Given the description of an element on the screen output the (x, y) to click on. 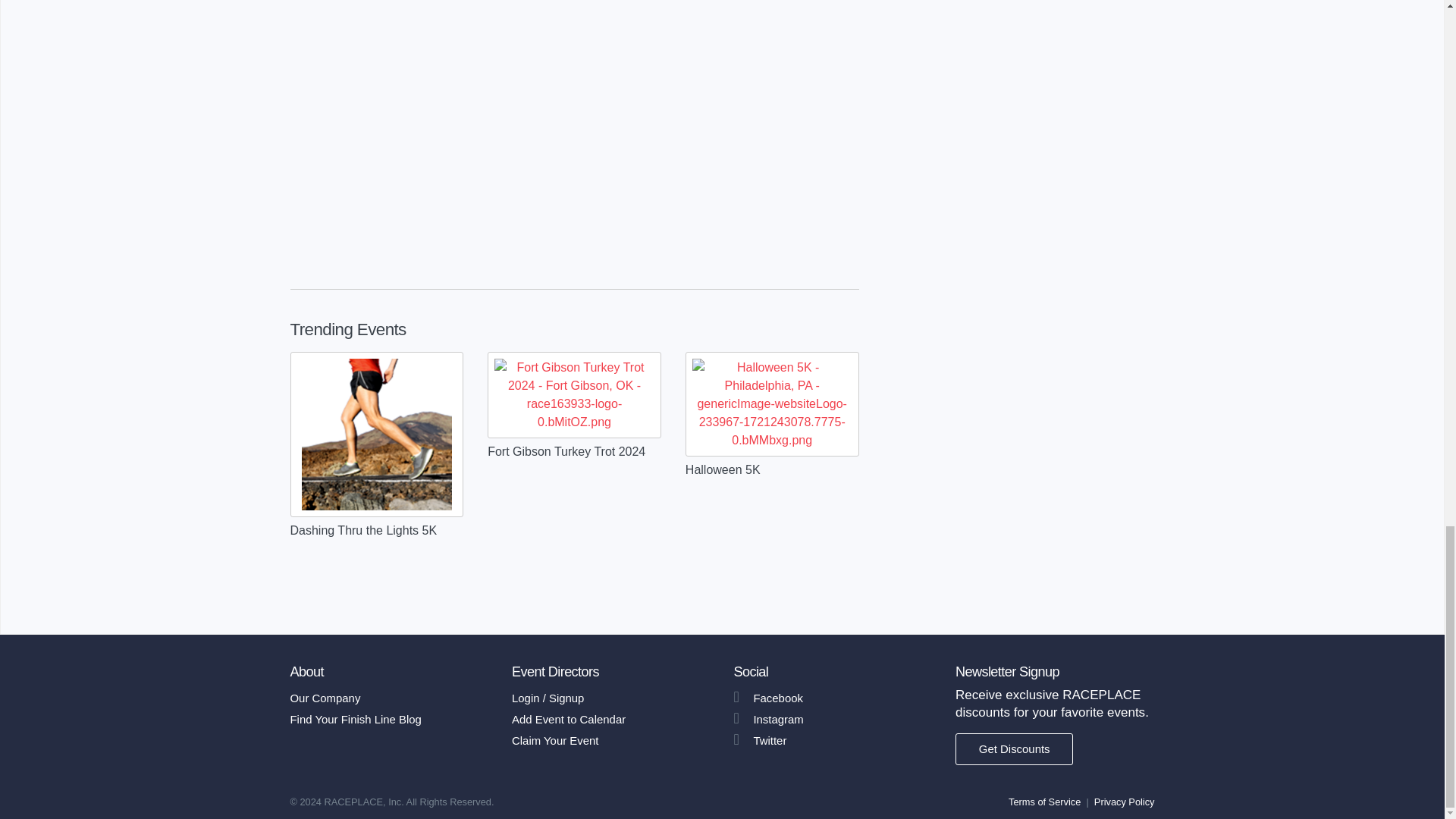
Dashing Thru the Lights 5K on RACEPLACE.com (376, 434)
Fort Gibson Turkey Trot 2024 on RACEPLACE.com (574, 394)
Halloween 5K on RACEPLACE.com (772, 403)
